Given the description of an element on the screen output the (x, y) to click on. 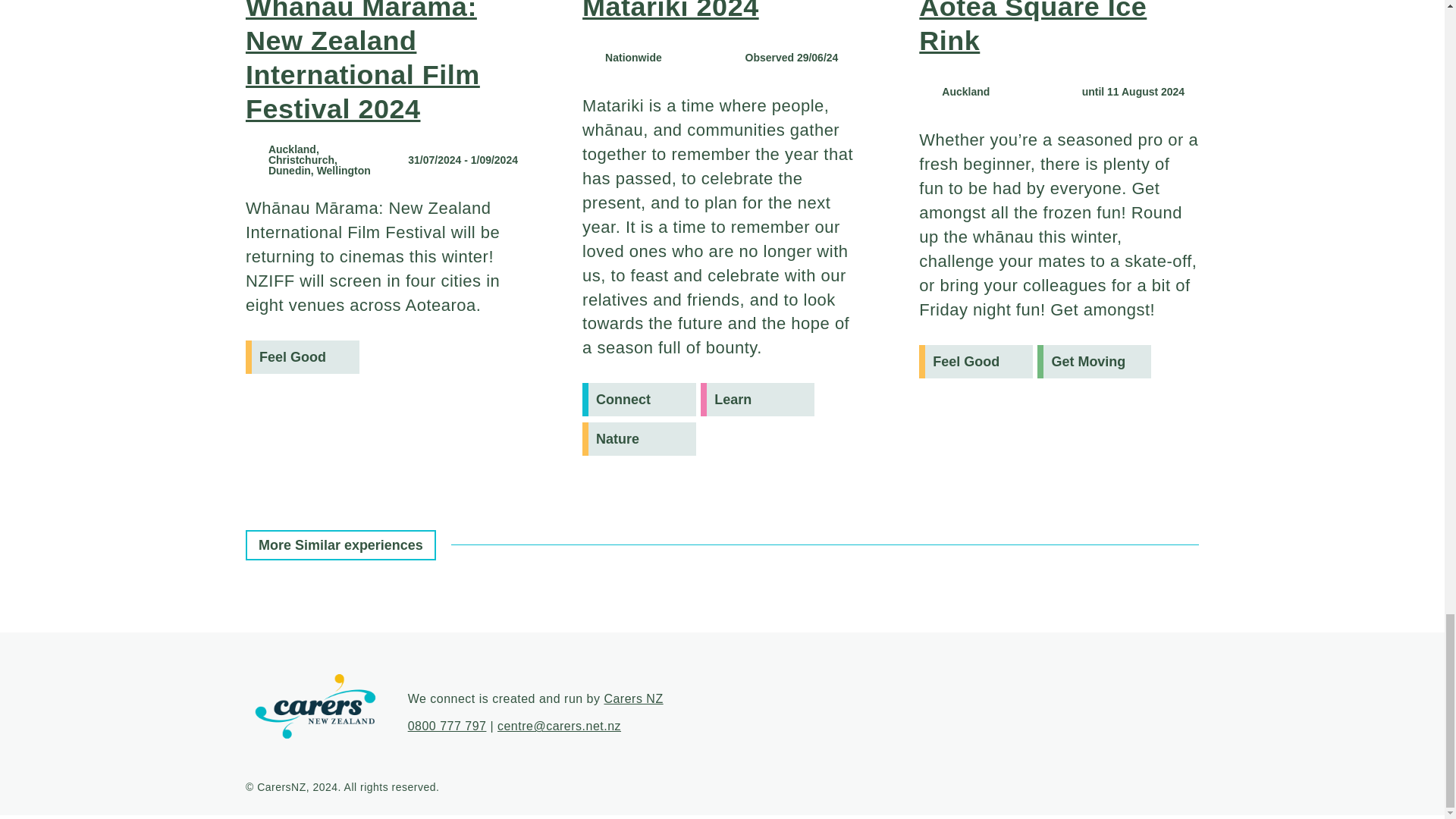
0800 777 797 (446, 725)
Feel Good (975, 361)
Permanent Link to Aotea Square Ice Rink (1032, 28)
Get Moving (1093, 361)
Permanent Link to Matariki 2024 (670, 11)
Matariki 2024 (670, 11)
Learn (756, 399)
Feel Good (302, 356)
Connect (638, 399)
Nature (638, 438)
